Given the description of an element on the screen output the (x, y) to click on. 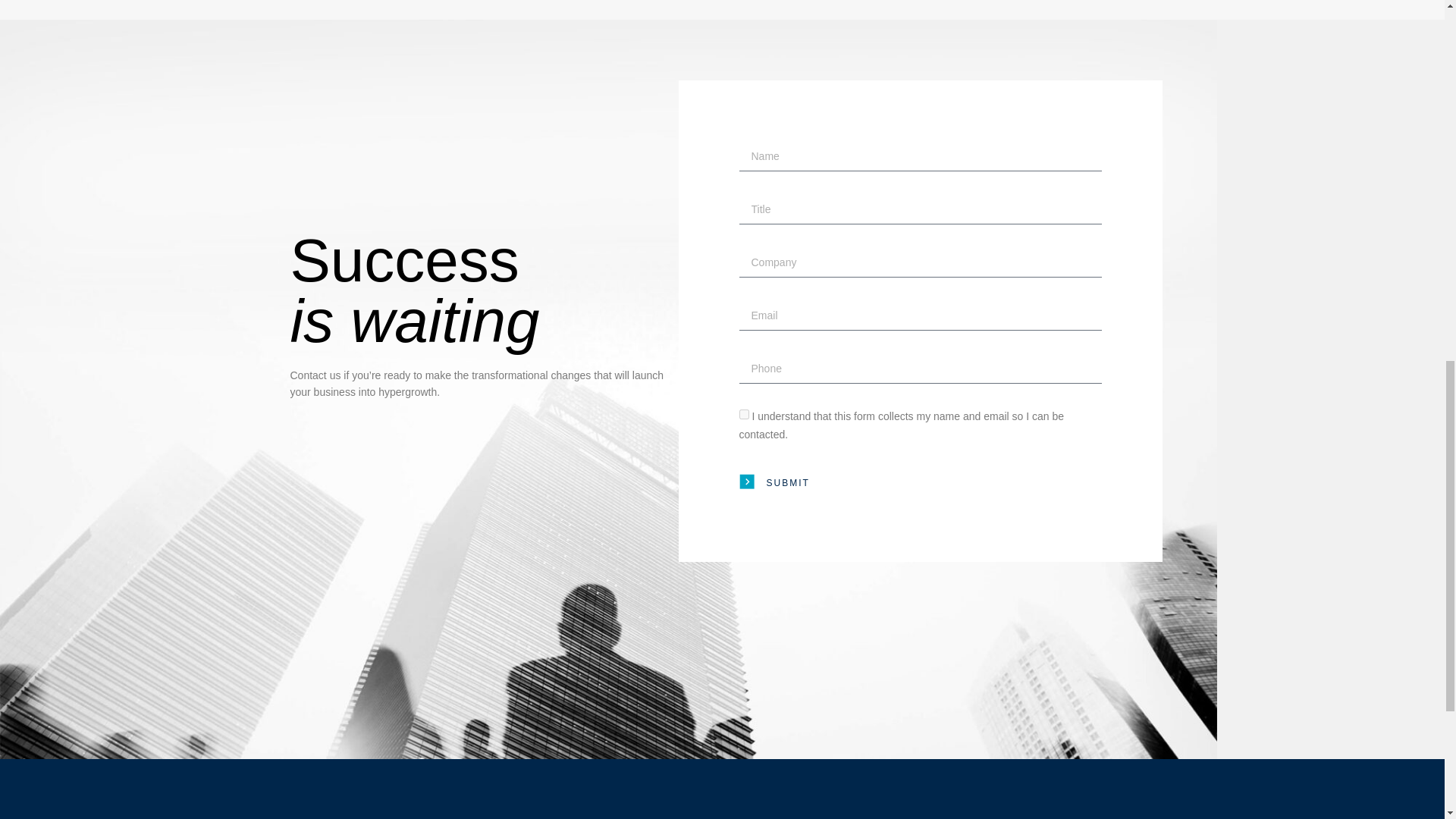
SUBMIT (773, 483)
on (743, 414)
